Given the description of an element on the screen output the (x, y) to click on. 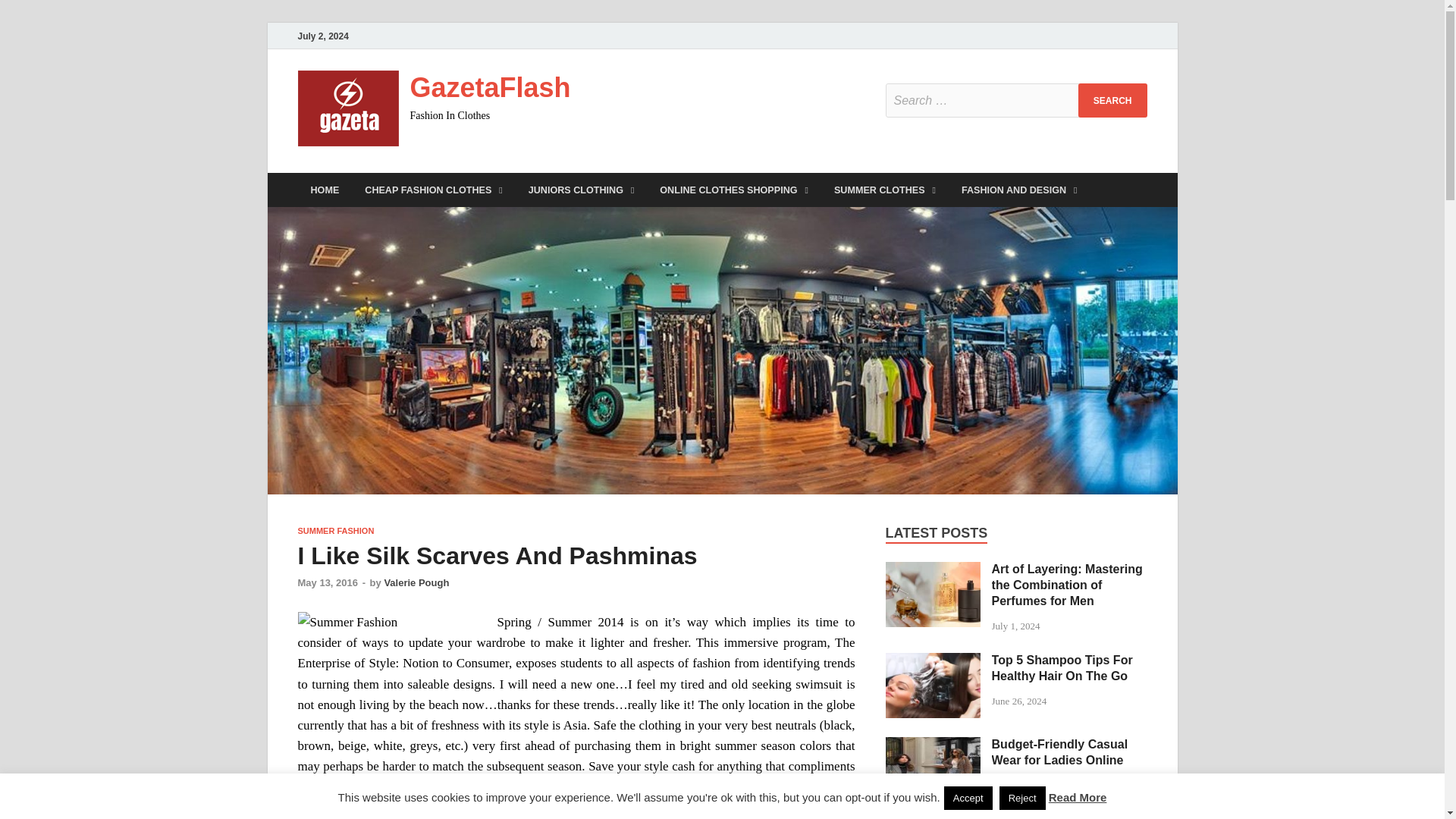
Search (1112, 100)
Top 5 Shampoo Tips For Healthy Hair On The Go (932, 661)
SUMMER CLOTHES (885, 189)
Search (1112, 100)
ONLINE CLOTHES SHOPPING (733, 189)
JUNIORS CLOTHING (581, 189)
HOME (324, 189)
GazetaFlash (489, 87)
FASHION AND DESIGN (1019, 189)
CHEAP FASHION CLOTHES (433, 189)
Budget-Friendly Casual Wear for Ladies Online (932, 745)
Search (1112, 100)
